Given the description of an element on the screen output the (x, y) to click on. 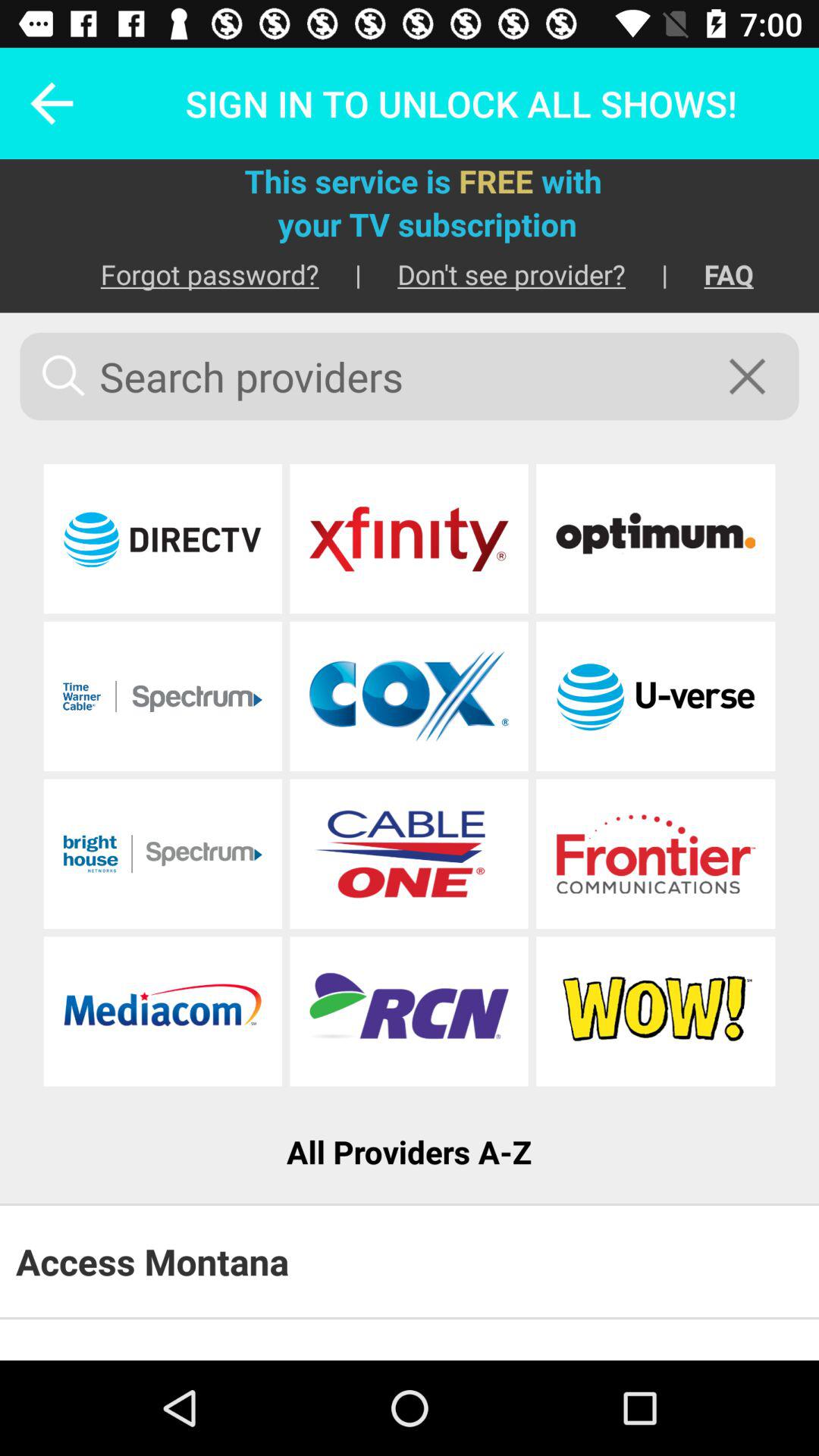
play on rcn (408, 1011)
